Given the description of an element on the screen output the (x, y) to click on. 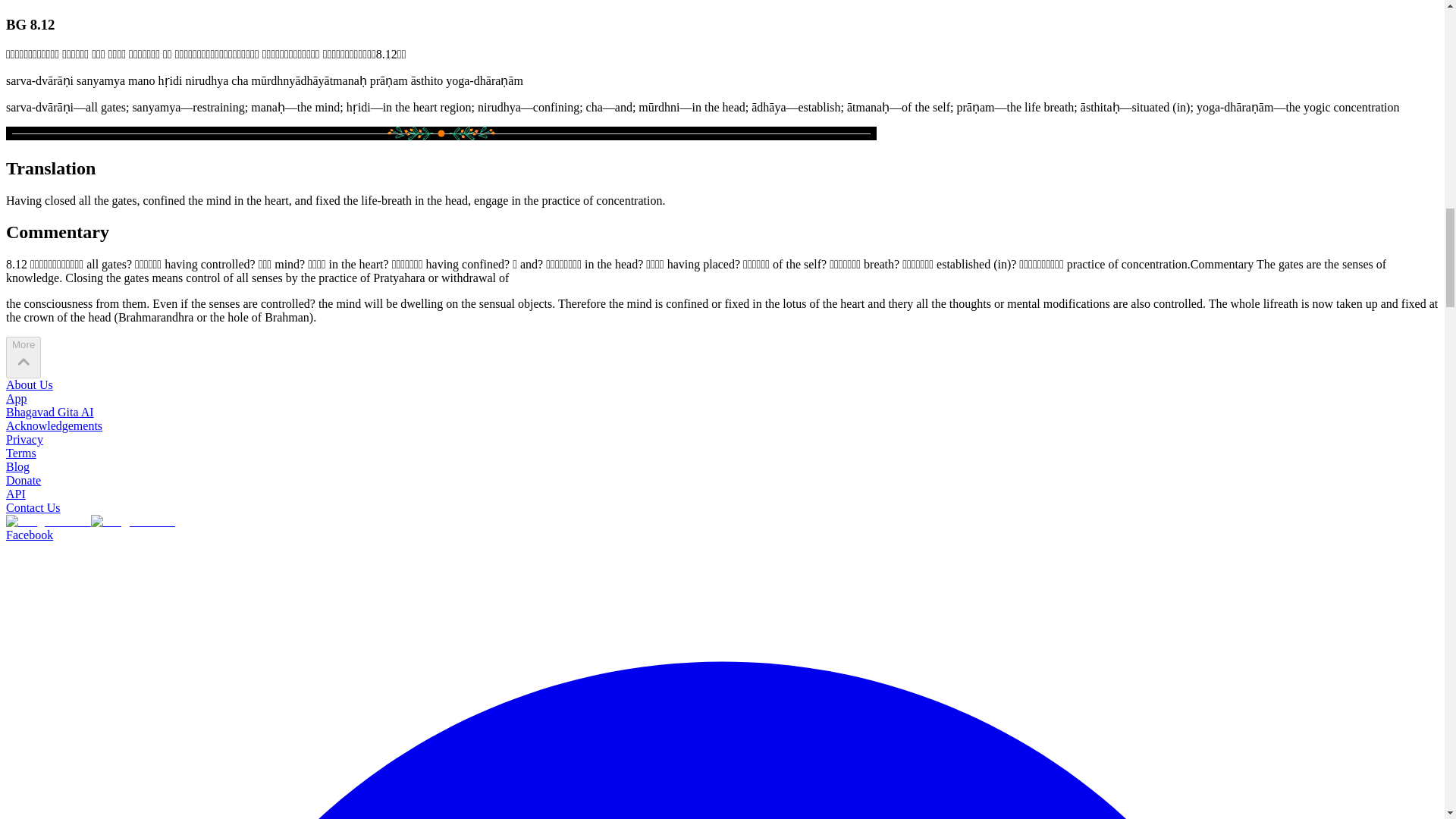
Terms (20, 452)
Blog (17, 466)
About Us (28, 384)
Contact Us (33, 507)
Privacy (24, 439)
Bhagavad Gita AI (49, 411)
Donate (22, 480)
Acknowledgements (53, 425)
App (16, 398)
API (15, 493)
